Given the description of an element on the screen output the (x, y) to click on. 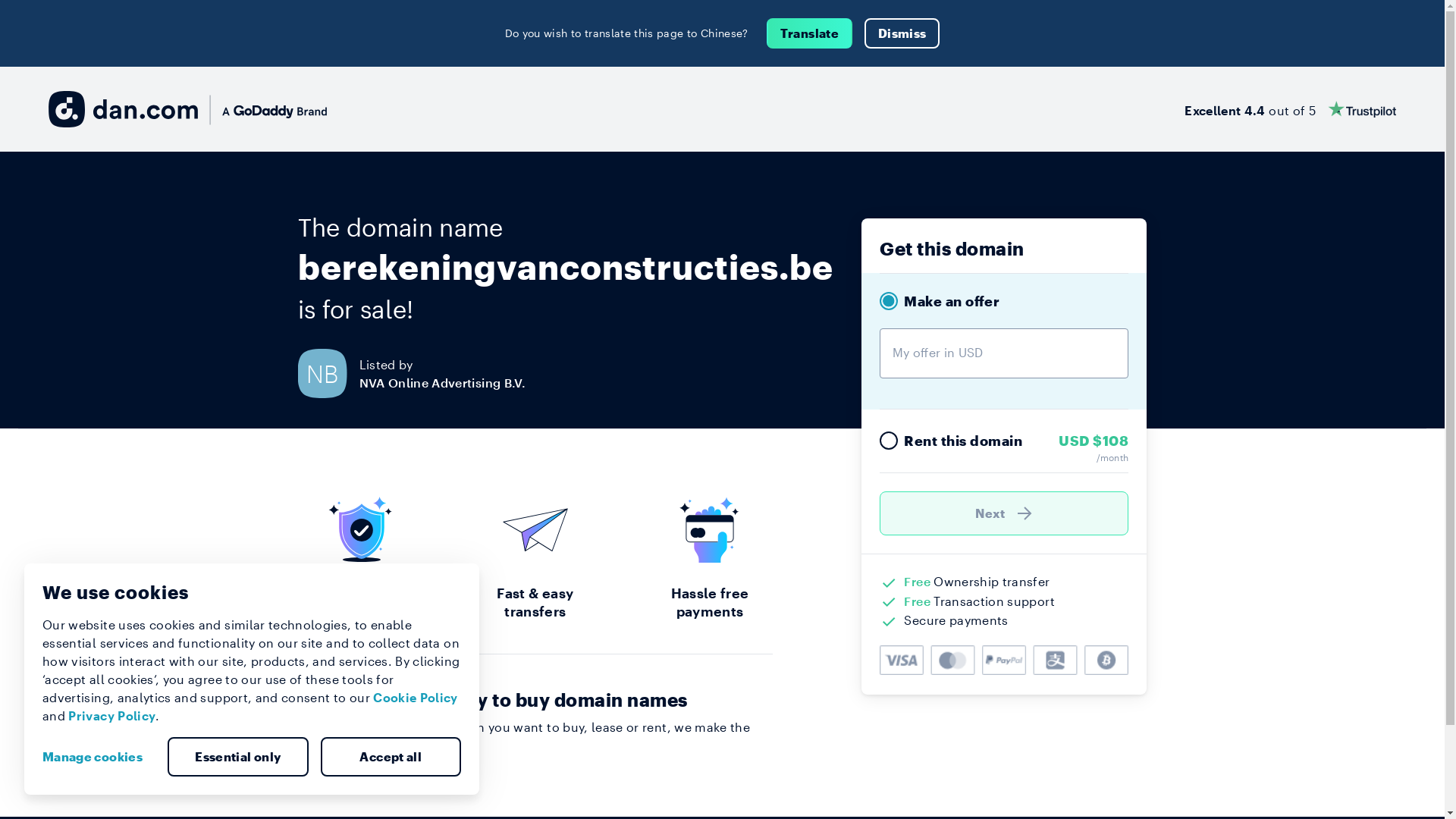
Dismiss Element type: text (901, 33)
Accept all Element type: text (390, 756)
Cookie Policy Element type: text (415, 697)
Essential only Element type: text (237, 756)
Excellent 4.4 out of 5 Element type: text (1290, 109)
Next
) Element type: text (1003, 513)
Translate Element type: text (809, 33)
Manage cookies Element type: text (98, 756)
Privacy Policy Element type: text (111, 715)
